Given the description of an element on the screen output the (x, y) to click on. 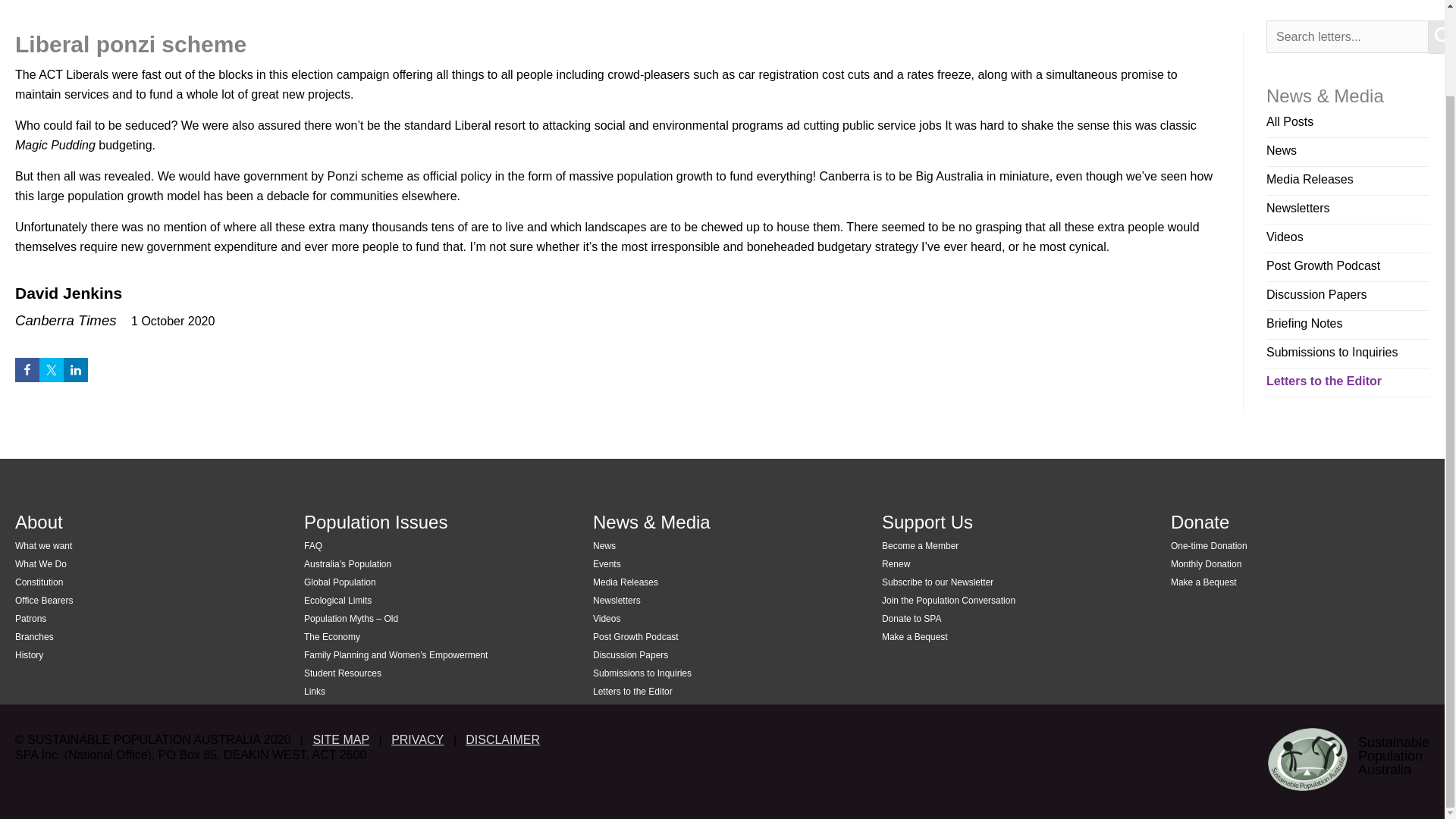
Share on Twitter (51, 369)
Share on LinkedIn (75, 369)
Share on Facebook (26, 369)
